Given the description of an element on the screen output the (x, y) to click on. 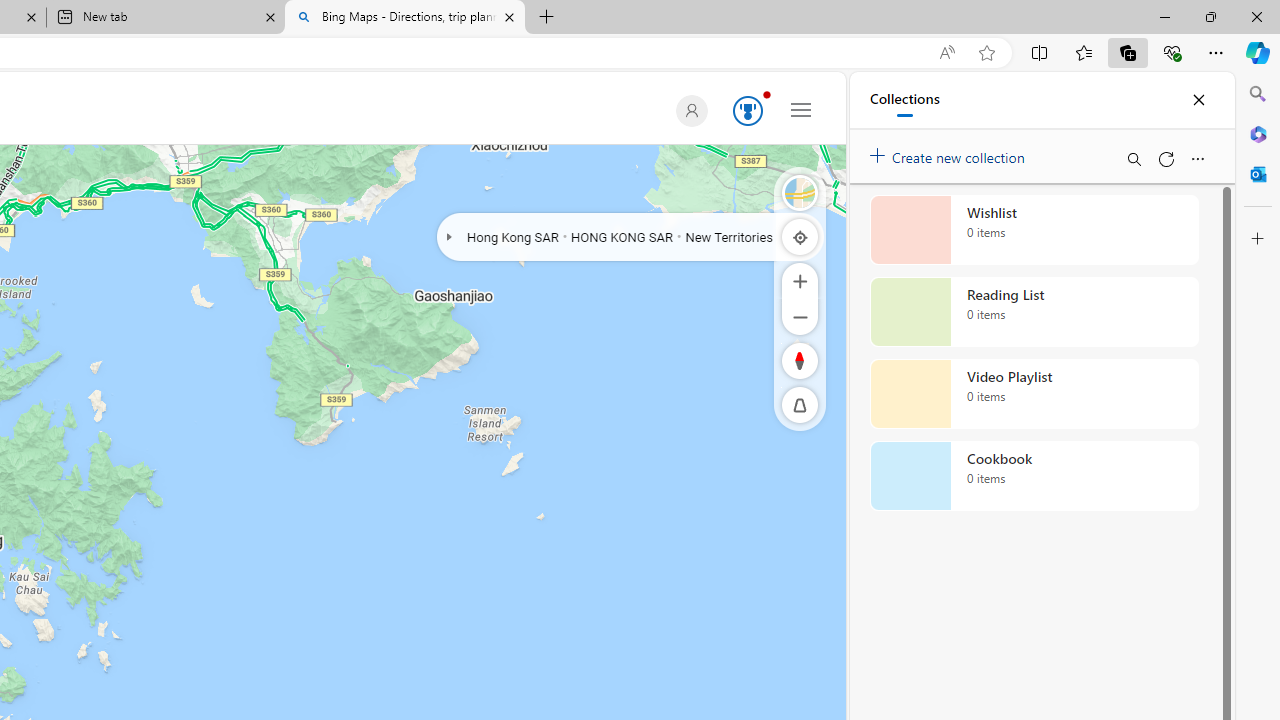
Select Style (799, 192)
Reset to Default Pitch (799, 405)
Reset to Default Rotation (799, 360)
Default Profile Picture (691, 110)
AutomationID: serp_medal_svg (748, 110)
Cookbook collection, 0 items (1034, 475)
Satellite (799, 192)
Video Playlist collection, 0 items (1034, 394)
Settings and quick links (801, 109)
Microsoft Rewards 63 (744, 111)
Wishlist collection, 0 items (1034, 229)
Animation (766, 94)
